Given the description of an element on the screen output the (x, y) to click on. 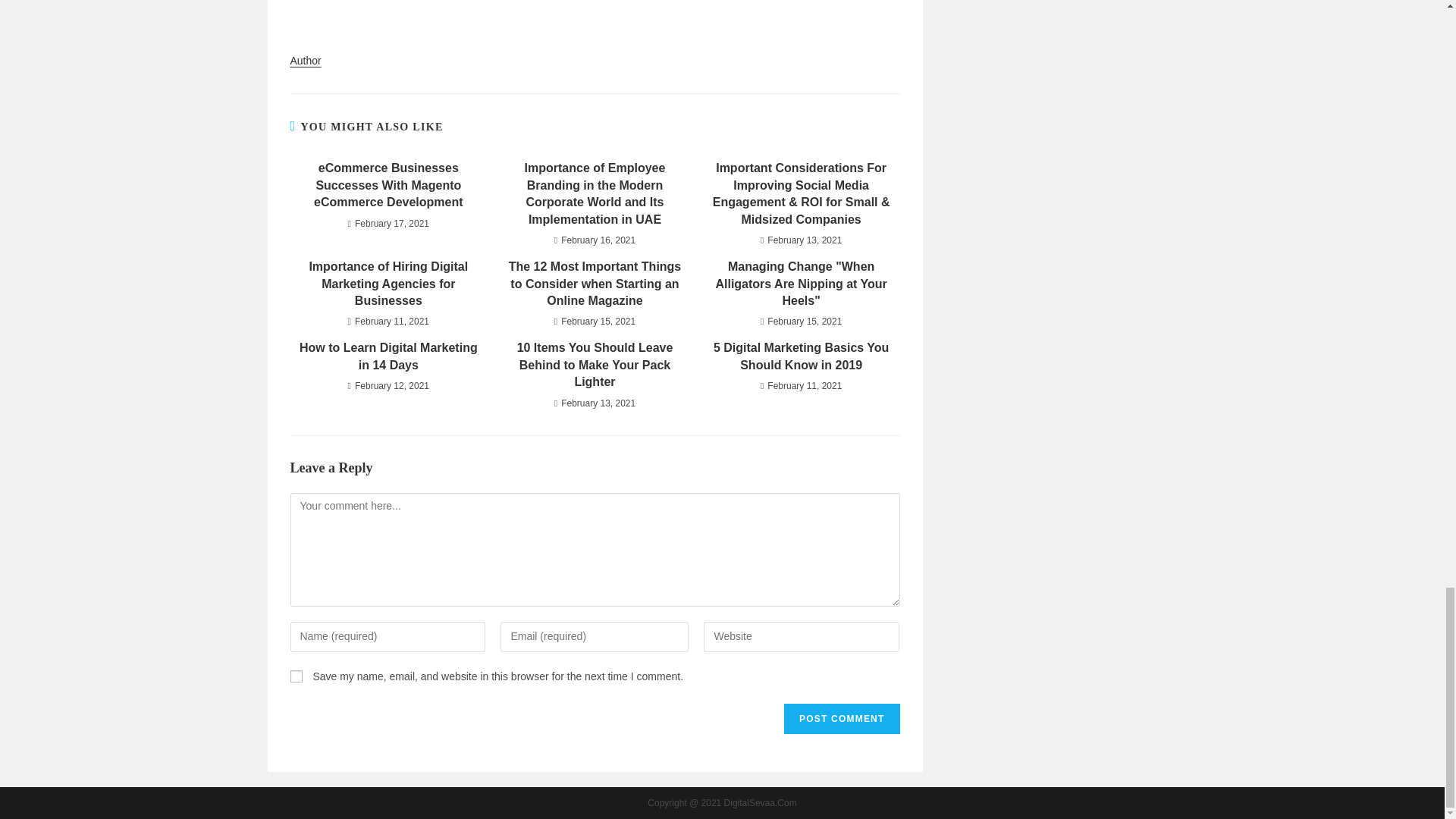
How to Learn Digital Marketing in 14 Days (387, 356)
5 Digital Marketing Basics You Should Know in 2019 (801, 356)
Author (304, 60)
10 Items You Should Leave Behind to Make Your Pack Lighter (594, 364)
Post Comment (841, 718)
Managing Change "When Alligators Are Nipping at Your Heels" (801, 283)
yes (295, 676)
Post Comment (841, 718)
